Given the description of an element on the screen output the (x, y) to click on. 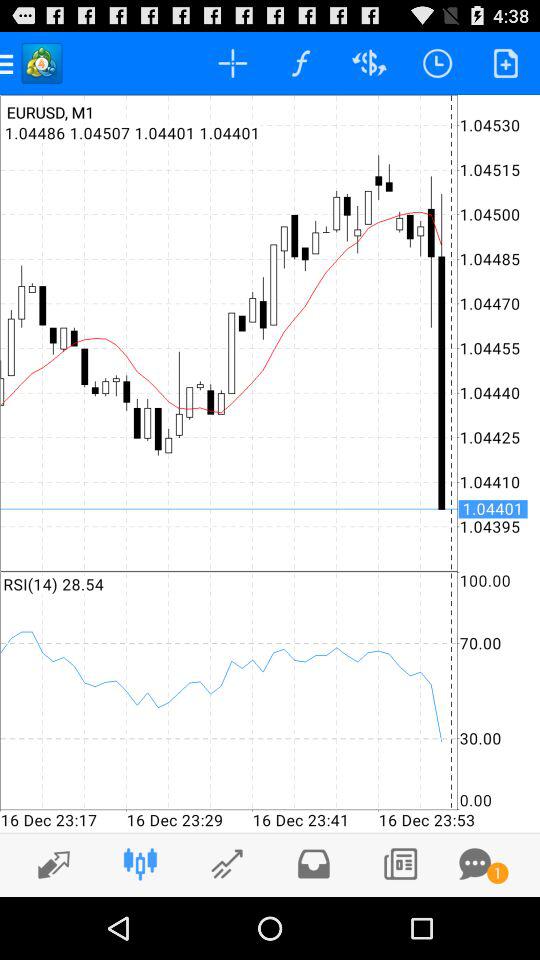
choose icon at the center (270, 463)
